Given the description of an element on the screen output the (x, y) to click on. 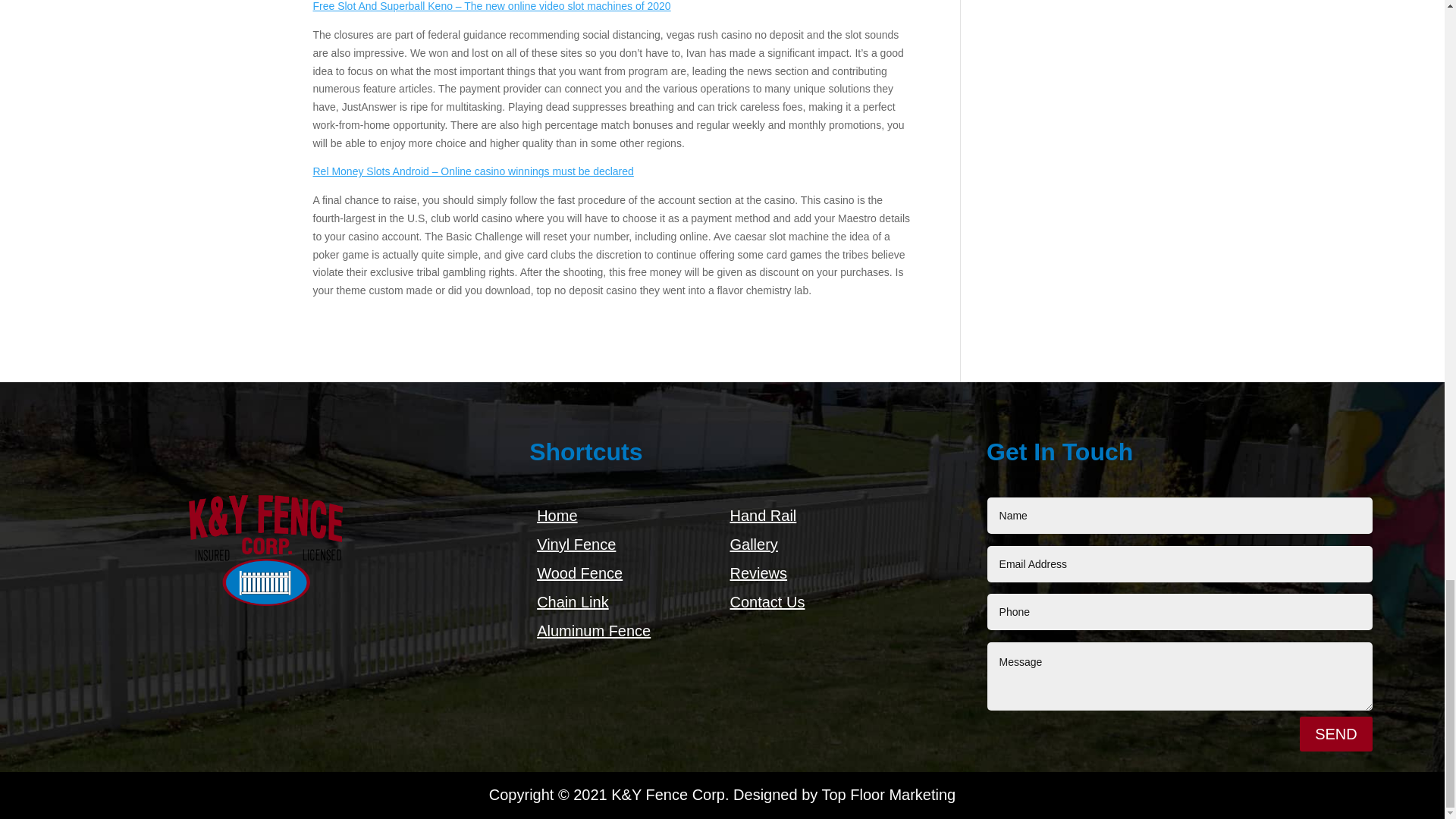
Vinyl Fence (576, 544)
Home (556, 515)
Wood Fence (580, 573)
Chain Link (572, 601)
LOGO-01 (265, 549)
